Given the description of an element on the screen output the (x, y) to click on. 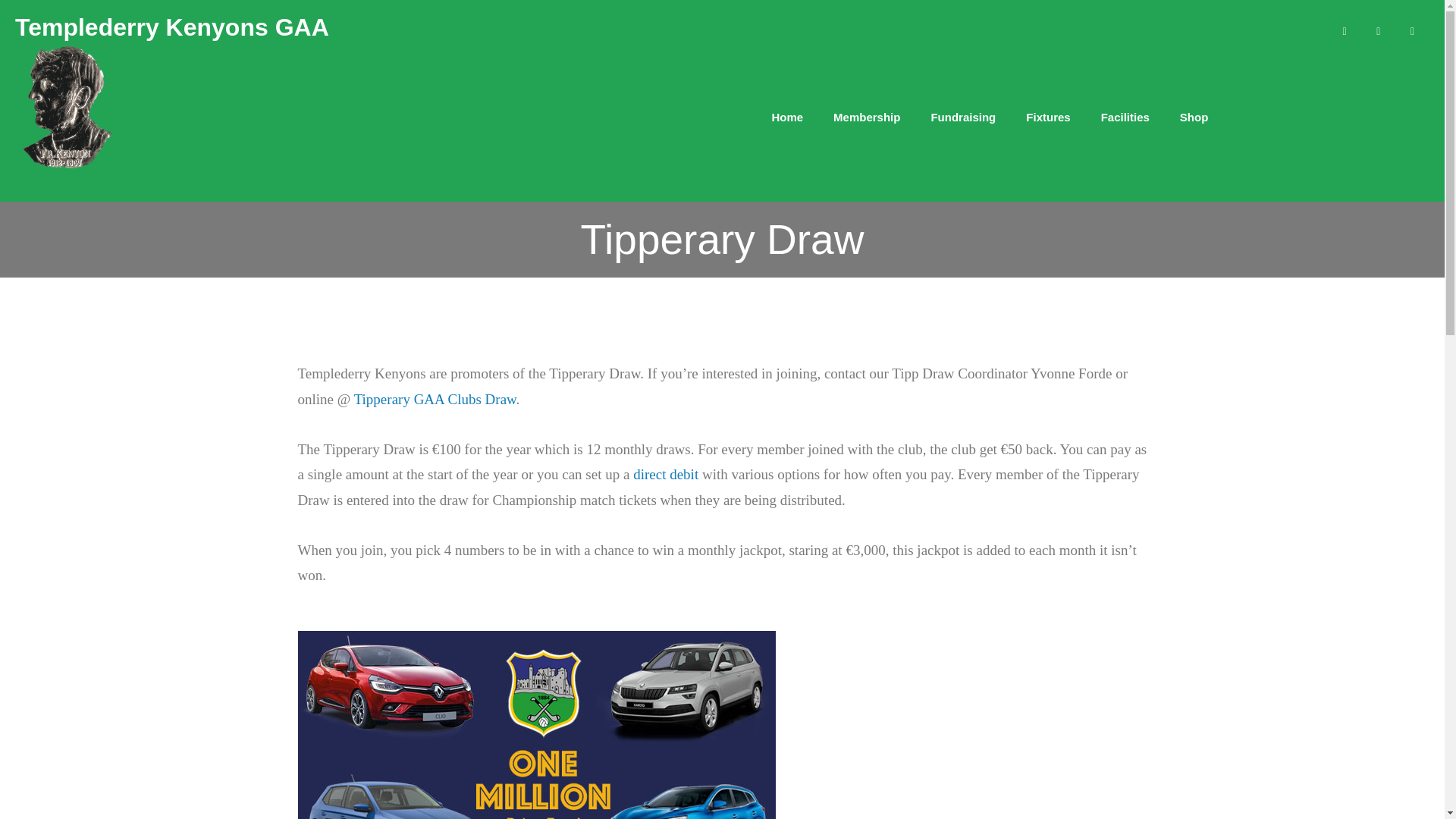
Fundraising (962, 117)
Membership (866, 117)
direct debit (665, 474)
Tipperary GAA Clubs Draw (434, 399)
Templederry Kenyons GAA (171, 26)
